Given the description of an element on the screen output the (x, y) to click on. 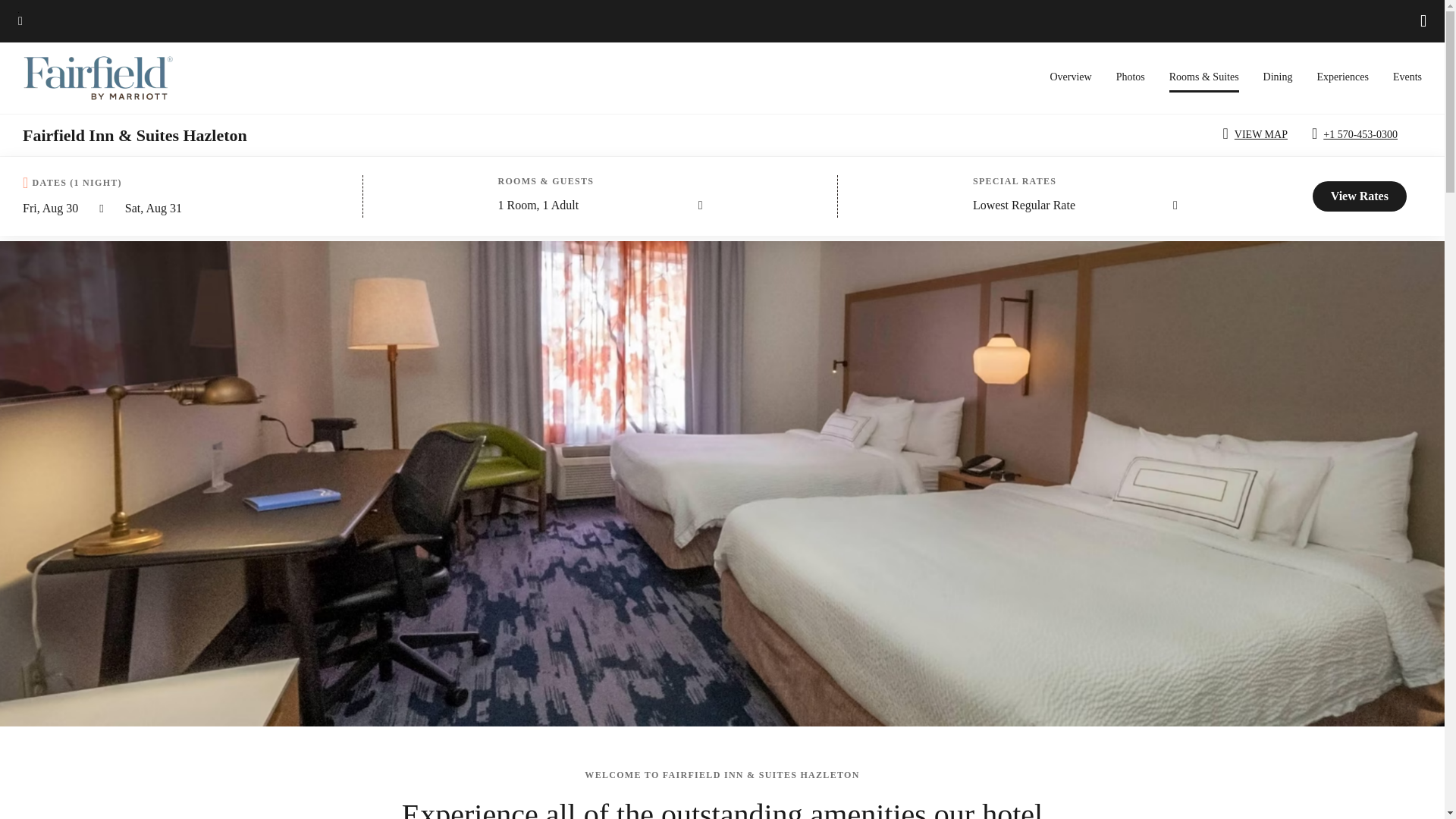
Overview (1069, 76)
VIEW MAP (1257, 134)
Dining (1277, 76)
Events (1407, 76)
Photos (1130, 76)
Experiences (1342, 76)
